Given the description of an element on the screen output the (x, y) to click on. 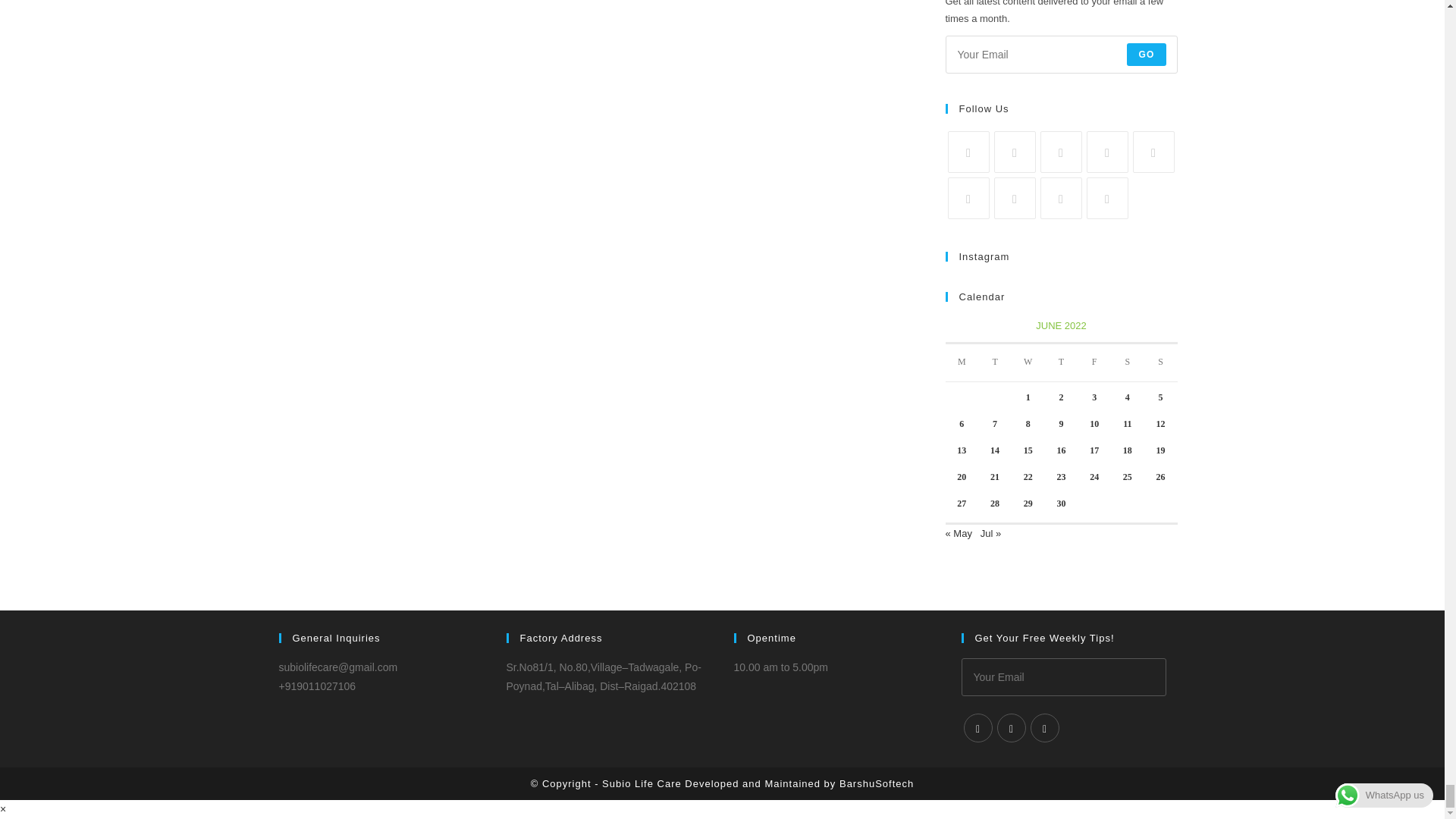
Sunday (1160, 362)
Saturday (1127, 362)
BarshuSoftech (877, 783)
Tuesday (994, 362)
Thursday (1061, 362)
Friday (1093, 362)
Monday (961, 362)
Wednesday (1028, 362)
